Given the description of an element on the screen output the (x, y) to click on. 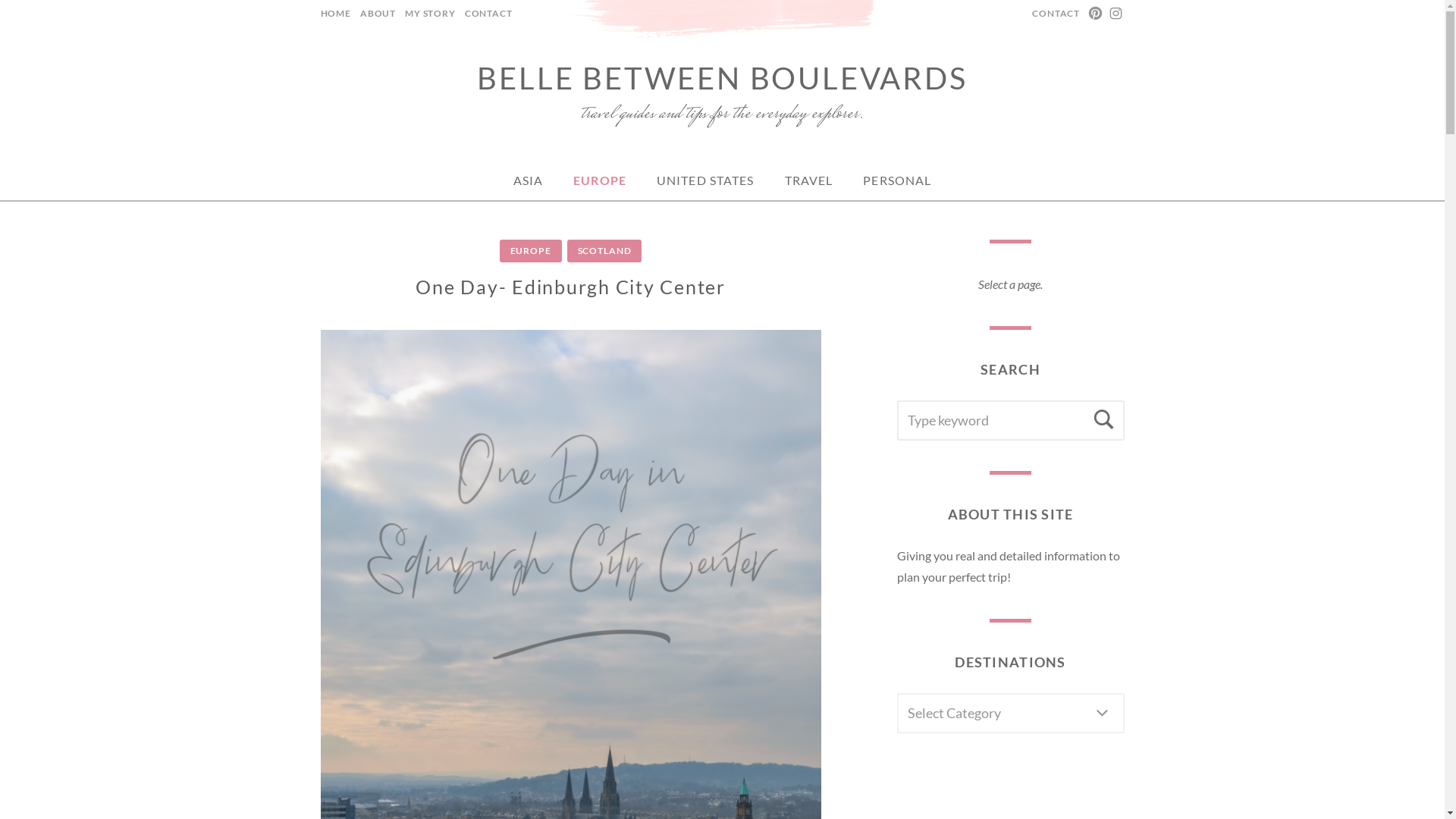
ASIA (527, 179)
EUROPE (599, 179)
PERSONAL (896, 179)
PINTEREST (1096, 13)
INSTAGRAM (1114, 13)
Press Enter to submit your search (1010, 420)
EUROPE (530, 250)
CONTACT (486, 13)
CONTACT (1056, 13)
MY STORY (430, 13)
BELLE BETWEEN BOULEVARDS (721, 78)
Select a page. (1010, 283)
TRAVEL (809, 179)
SCOTLAND (604, 250)
UNITED STATES (706, 179)
